Given the description of an element on the screen output the (x, y) to click on. 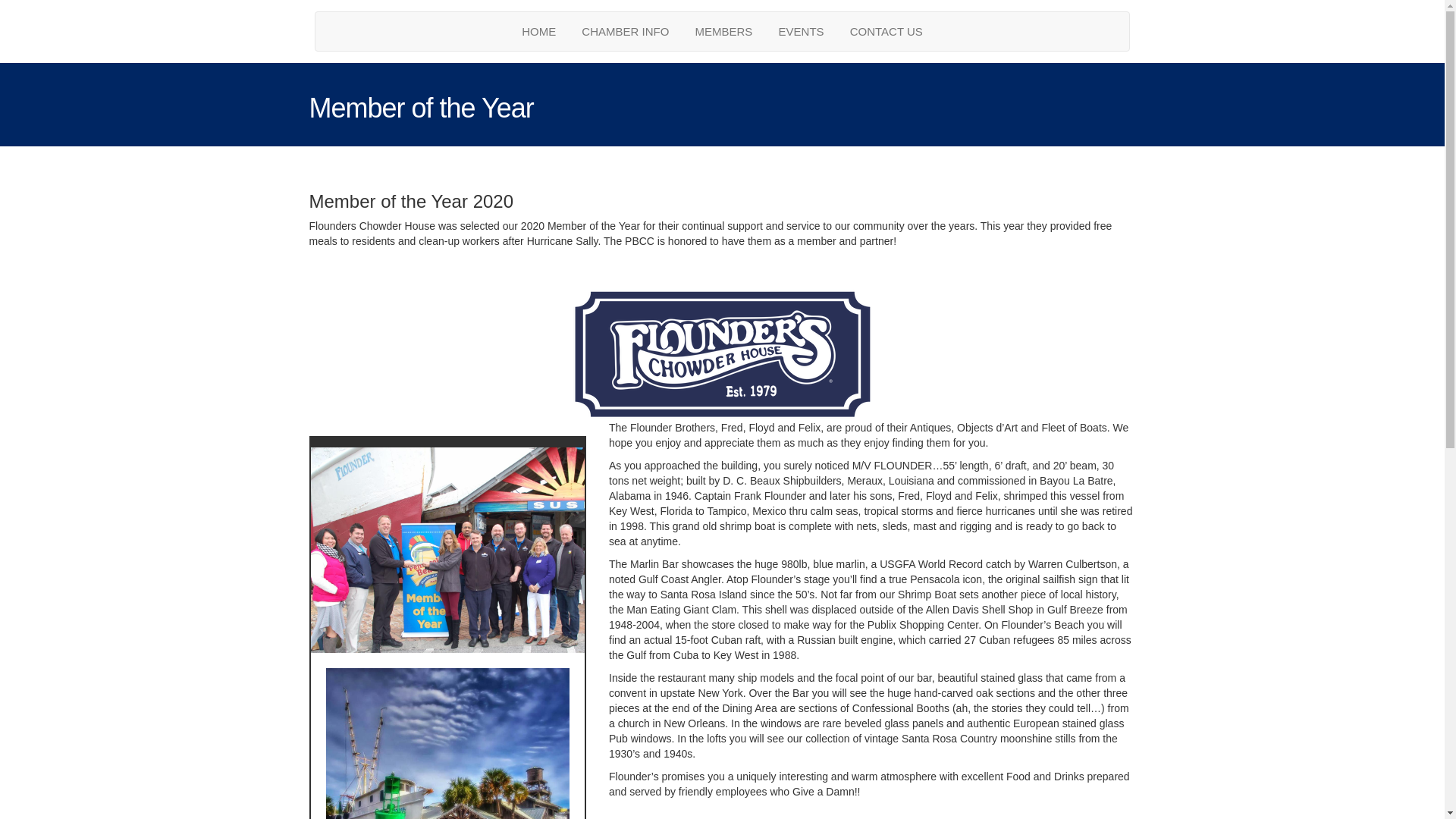
CHAMBER INFO (624, 31)
HOME (539, 31)
Flounders (721, 353)
